Given the description of an element on the screen output the (x, y) to click on. 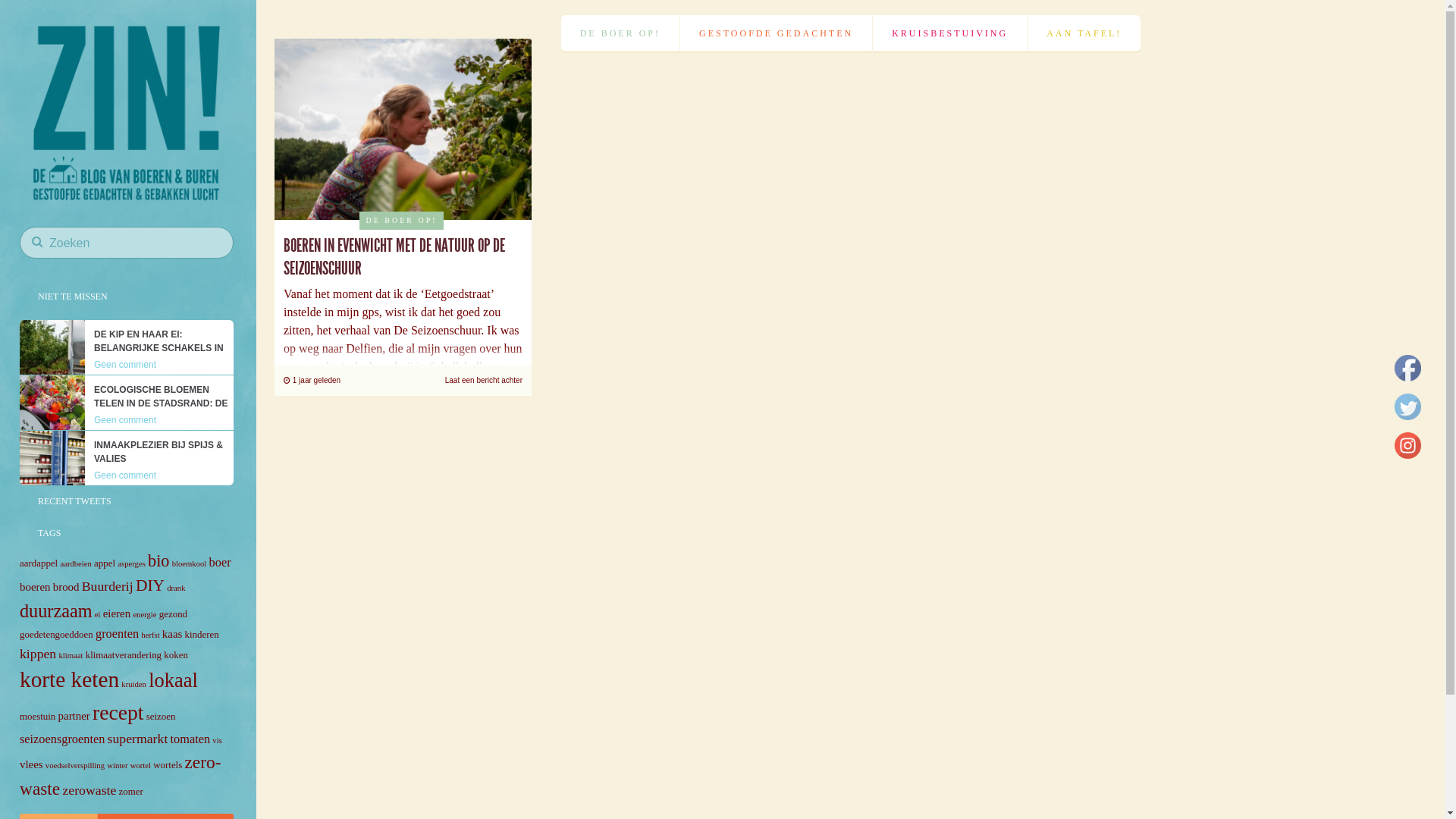
klimaat Element type: text (70, 655)
Buurderij Element type: text (107, 585)
DE BOER OP! Element type: text (620, 33)
eieren Element type: text (116, 613)
energie Element type: text (144, 614)
Geen comment Element type: text (126, 476)
brood Element type: text (66, 586)
KRUISBESTUIVING Element type: text (949, 33)
korte keten Element type: text (69, 679)
drank Element type: text (175, 587)
koken Element type: text (175, 654)
boer Element type: text (220, 562)
goedetengoeddoen Element type: text (56, 634)
Geen comment Element type: text (126, 365)
lokaal Element type: text (172, 679)
kaas Element type: text (172, 633)
DE BOER OP! Element type: text (400, 220)
appel Element type: text (104, 561)
kippen Element type: text (37, 653)
duurzaam Element type: text (55, 610)
vlees Element type: text (31, 764)
boeren Element type: text (34, 586)
1 jaar geleden Element type: text (314, 380)
moestuin Element type: text (37, 715)
zomer Element type: text (131, 791)
groenten Element type: text (116, 633)
GESTOOFDE GEDACHTEN Element type: text (776, 33)
INMAAKPLEZIER BIJ SPIJS & VALIES Element type: text (163, 453)
herfst Element type: text (150, 634)
aardbeien Element type: text (75, 563)
wortel Element type: text (140, 765)
BOEREN IN EVENWICHT MET DE NATUUR OP DE SEIZOENSCHUUR Element type: text (394, 257)
kruiden Element type: text (133, 684)
kinderen Element type: text (202, 634)
Zoeken Element type: text (214, 268)
AAN TAFEL! Element type: text (1083, 33)
wortels Element type: text (167, 763)
bio Element type: text (158, 559)
aardappel Element type: text (38, 561)
DIY Element type: text (149, 585)
vis Element type: text (216, 740)
ei Element type: text (97, 614)
zero-waste Element type: text (119, 775)
Geen comment Element type: text (126, 420)
zerowaste Element type: text (89, 789)
voedselverspilling Element type: text (74, 765)
seizoen Element type: text (160, 715)
bloemkool Element type: text (189, 563)
recept Element type: text (117, 712)
partner Element type: text (74, 715)
Laat een bericht achter Element type: text (483, 380)
supermarkt Element type: text (137, 738)
seizoensgroenten Element type: text (61, 738)
gezond Element type: text (173, 613)
asperges Element type: text (131, 563)
klimaatverandering Element type: text (123, 654)
tomaten Element type: text (190, 738)
winter Element type: text (116, 765)
